Given the description of an element on the screen output the (x, y) to click on. 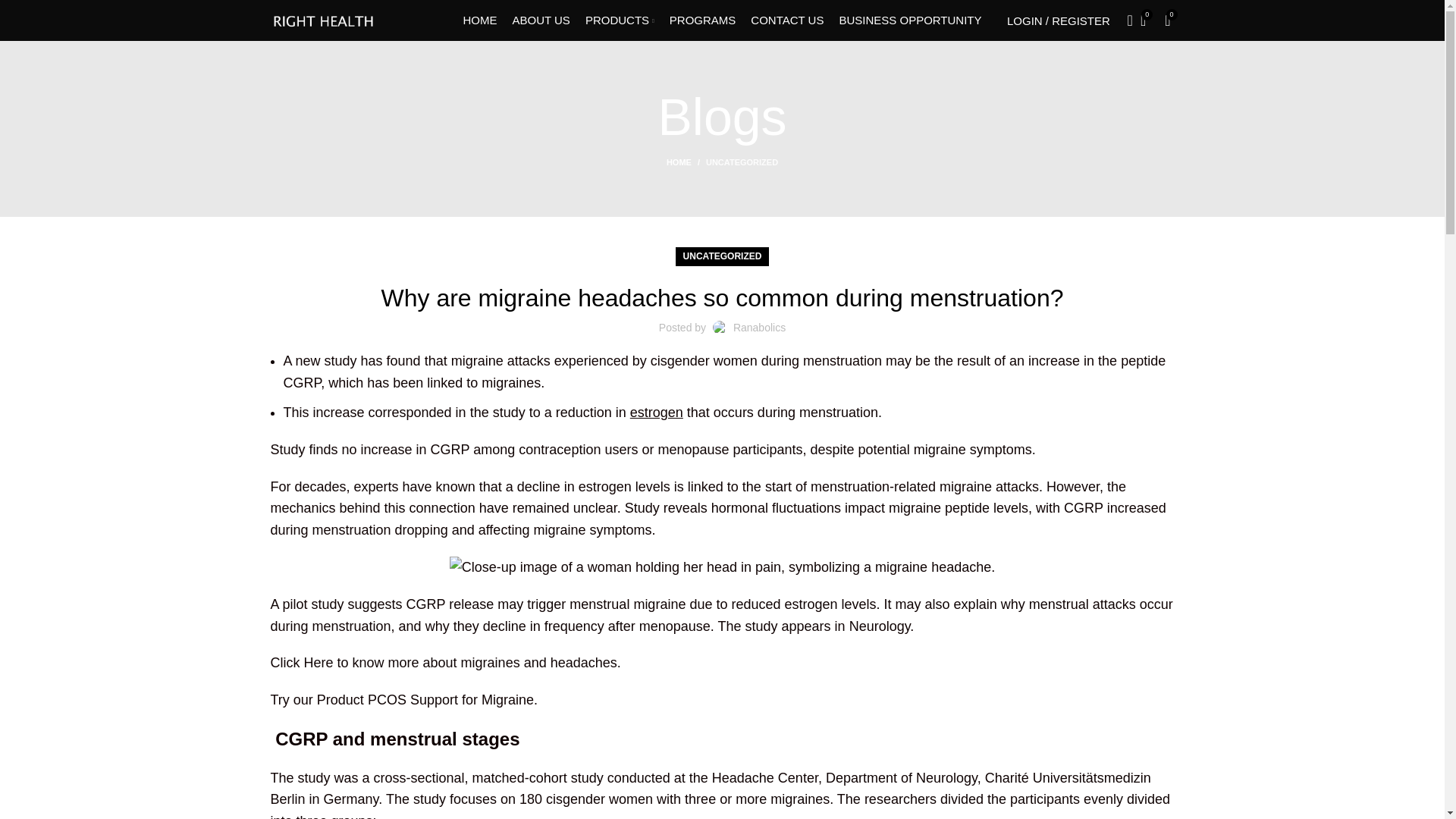
HOME (686, 162)
UNCATEGORIZED (721, 256)
PCOS Support (413, 699)
PROGRAMS (702, 20)
My account (1058, 20)
ABOUT US (540, 20)
HOME (479, 20)
0 (1167, 20)
CONTACT US (787, 20)
UNCATEGORIZED (741, 162)
Search (1125, 20)
BUSINESS OPPORTUNITY (909, 20)
Shopping cart (1167, 20)
Ranabolics (759, 327)
